Given the description of an element on the screen output the (x, y) to click on. 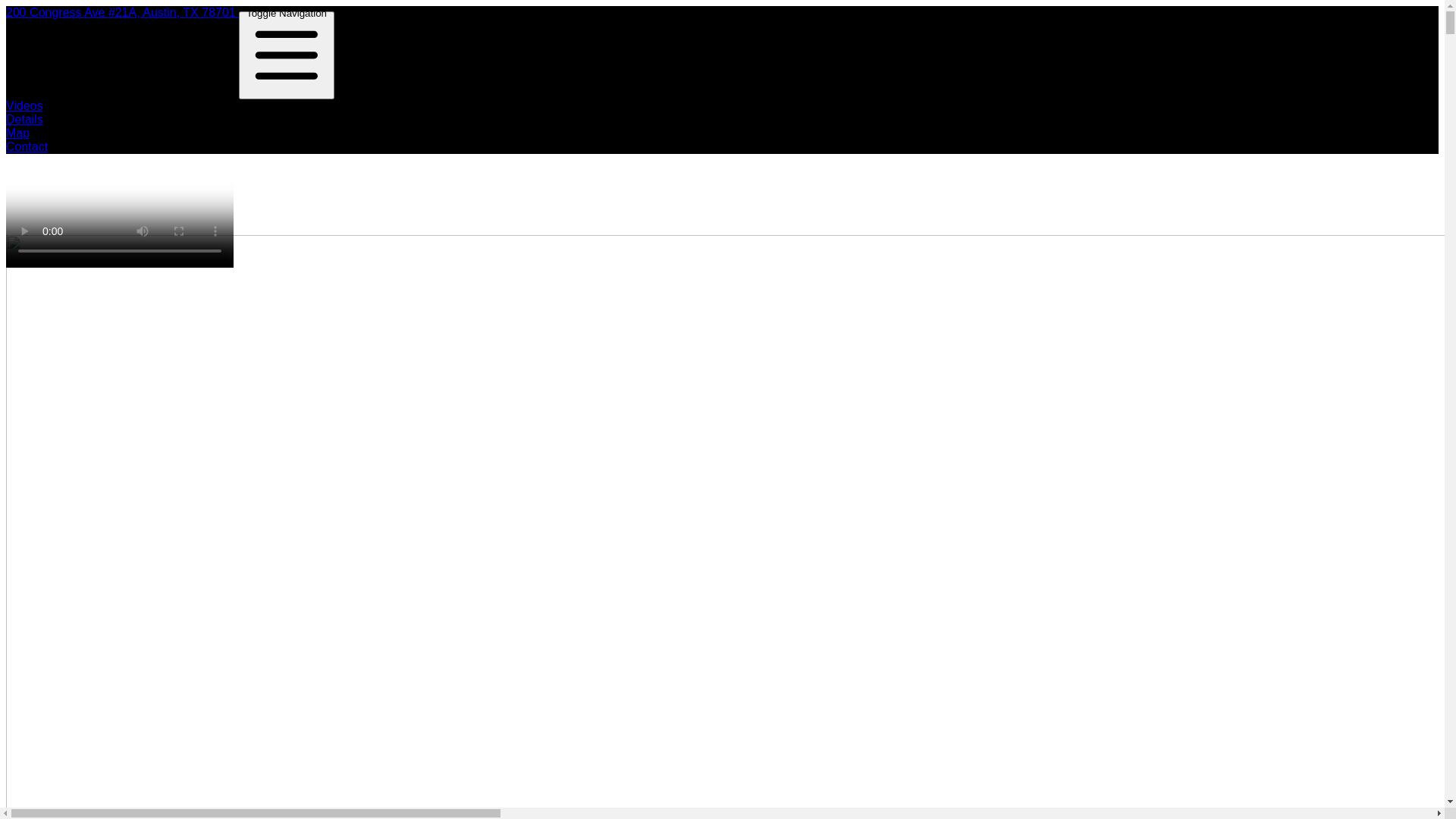
Toggle Navigation Element type: text (286, 55)
Map Element type: text (17, 132)
Contact Element type: text (26, 146)
Details Element type: text (24, 118)
Videos Element type: text (24, 105)
200 Congress Ave #21A, Austin, TX 78701 Element type: text (122, 12)
